Given the description of an element on the screen output the (x, y) to click on. 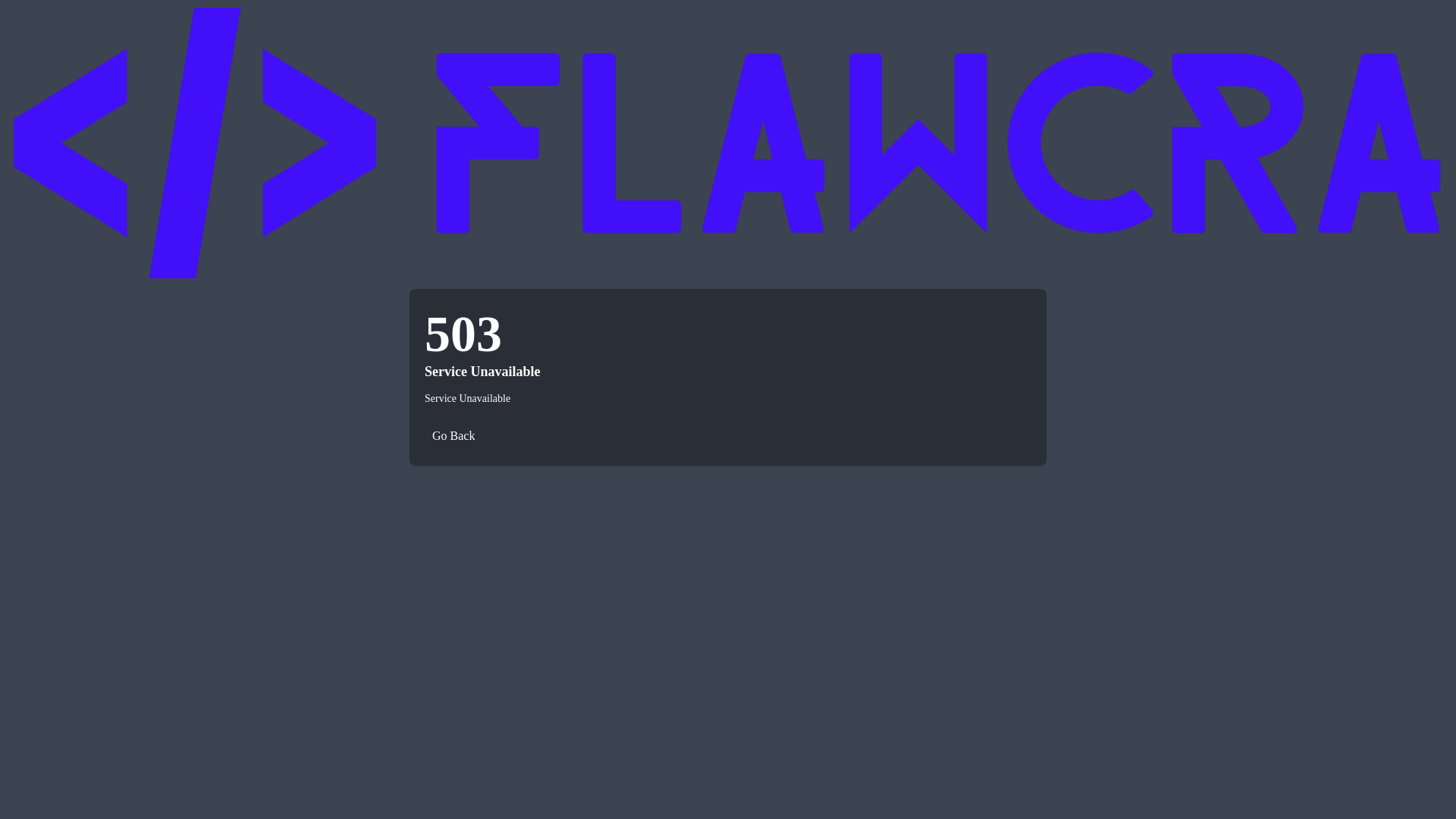
Go Back Element type: text (453, 435)
